Given the description of an element on the screen output the (x, y) to click on. 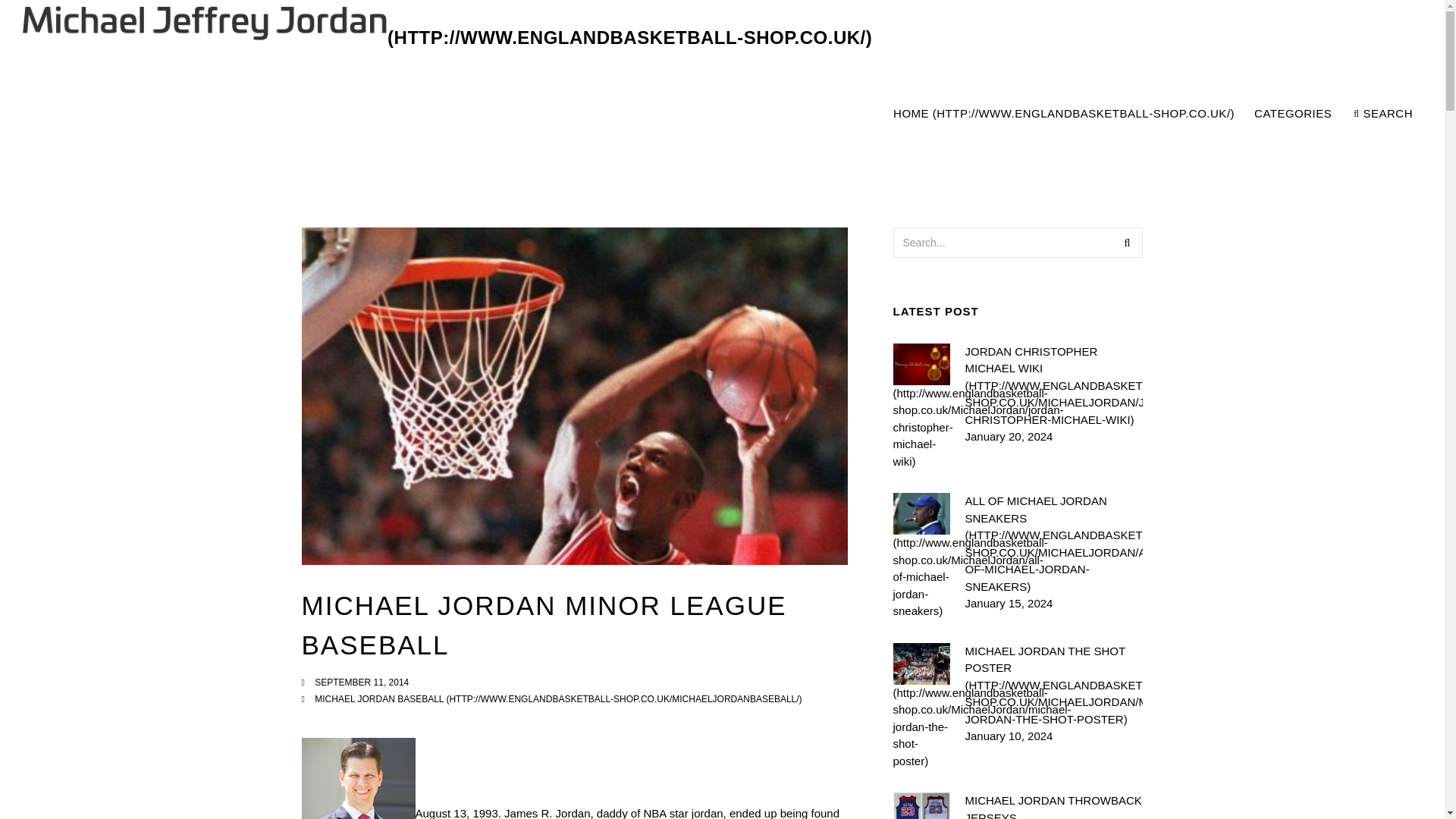
ALL OF MICHAEL JORDAN SNEAKERS (1052, 544)
SEARCH (1152, 113)
CATEGORIES (1382, 113)
MICHAEL JORDAN BASEBALL (1293, 113)
HOME (558, 698)
JORDAN CHRISTOPHER MICHAEL WIKI (1063, 113)
Michael Jeffrey Jordan (1052, 385)
Search (447, 38)
